Given the description of an element on the screen output the (x, y) to click on. 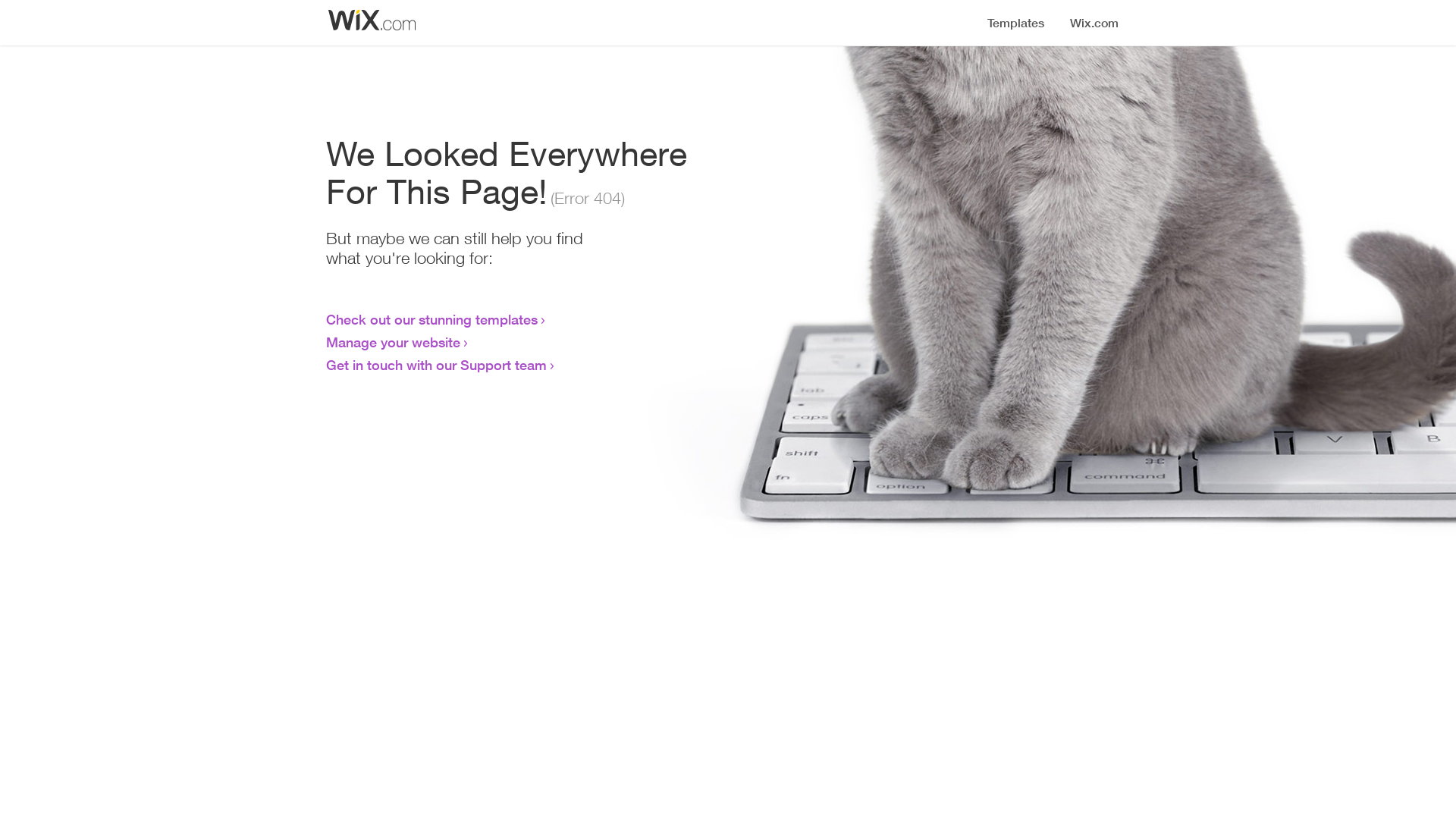
Manage your website Element type: text (393, 341)
Get in touch with our Support team Element type: text (436, 364)
Check out our stunning templates Element type: text (431, 318)
